Given the description of an element on the screen output the (x, y) to click on. 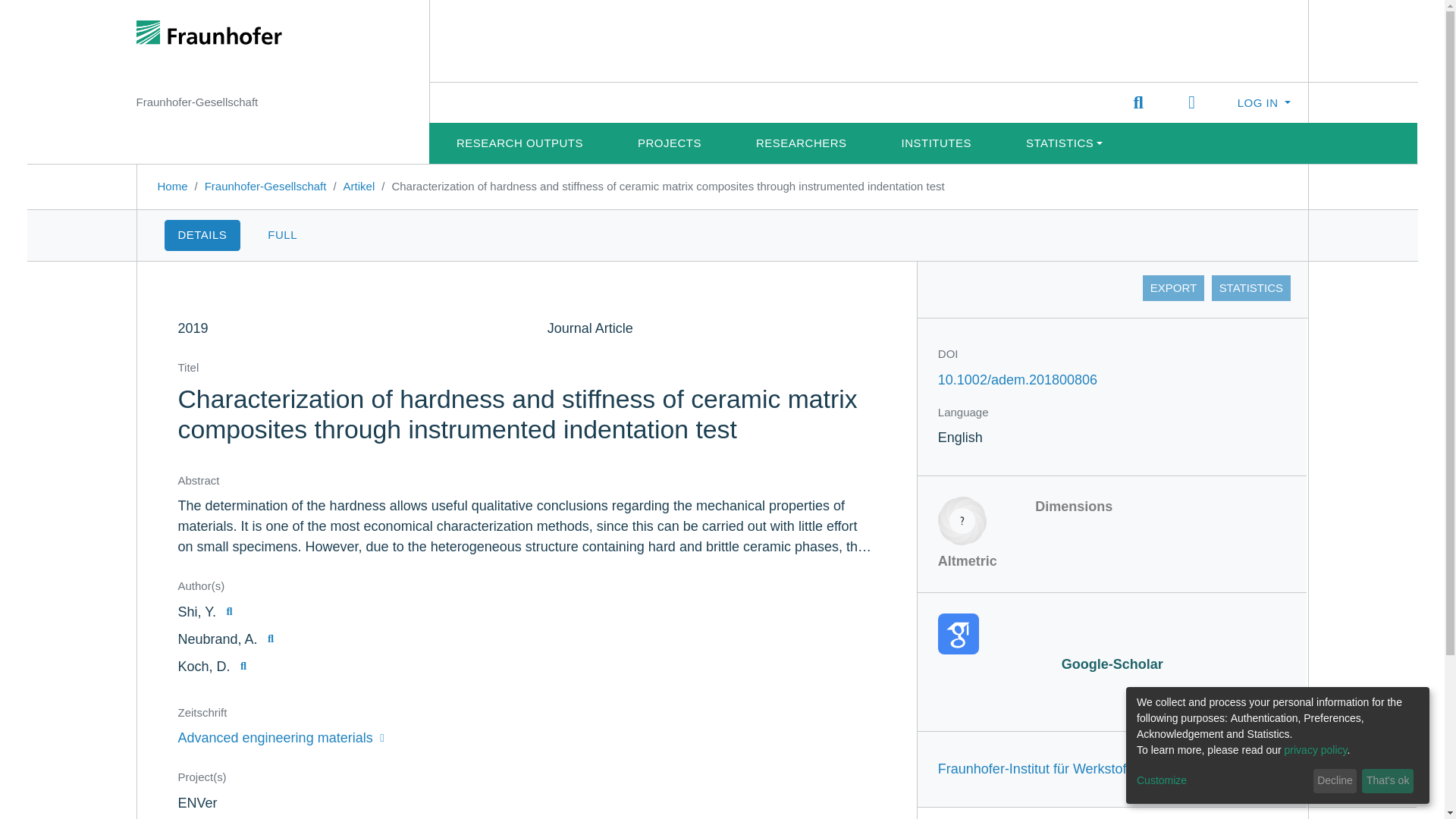
Research Outputs (519, 142)
DETAILS (201, 235)
Google-Scholar (1112, 643)
Details (201, 235)
Institutes (936, 142)
Home (172, 185)
PROJECTS (669, 142)
Projects (669, 142)
Language switch (1191, 102)
Customize (1222, 780)
Fraunhofer-Gesellschaft (265, 185)
RESEARCH OUTPUTS (519, 142)
STATISTICS (1250, 288)
FULL (282, 235)
EXPORT (1173, 288)
